Given the description of an element on the screen output the (x, y) to click on. 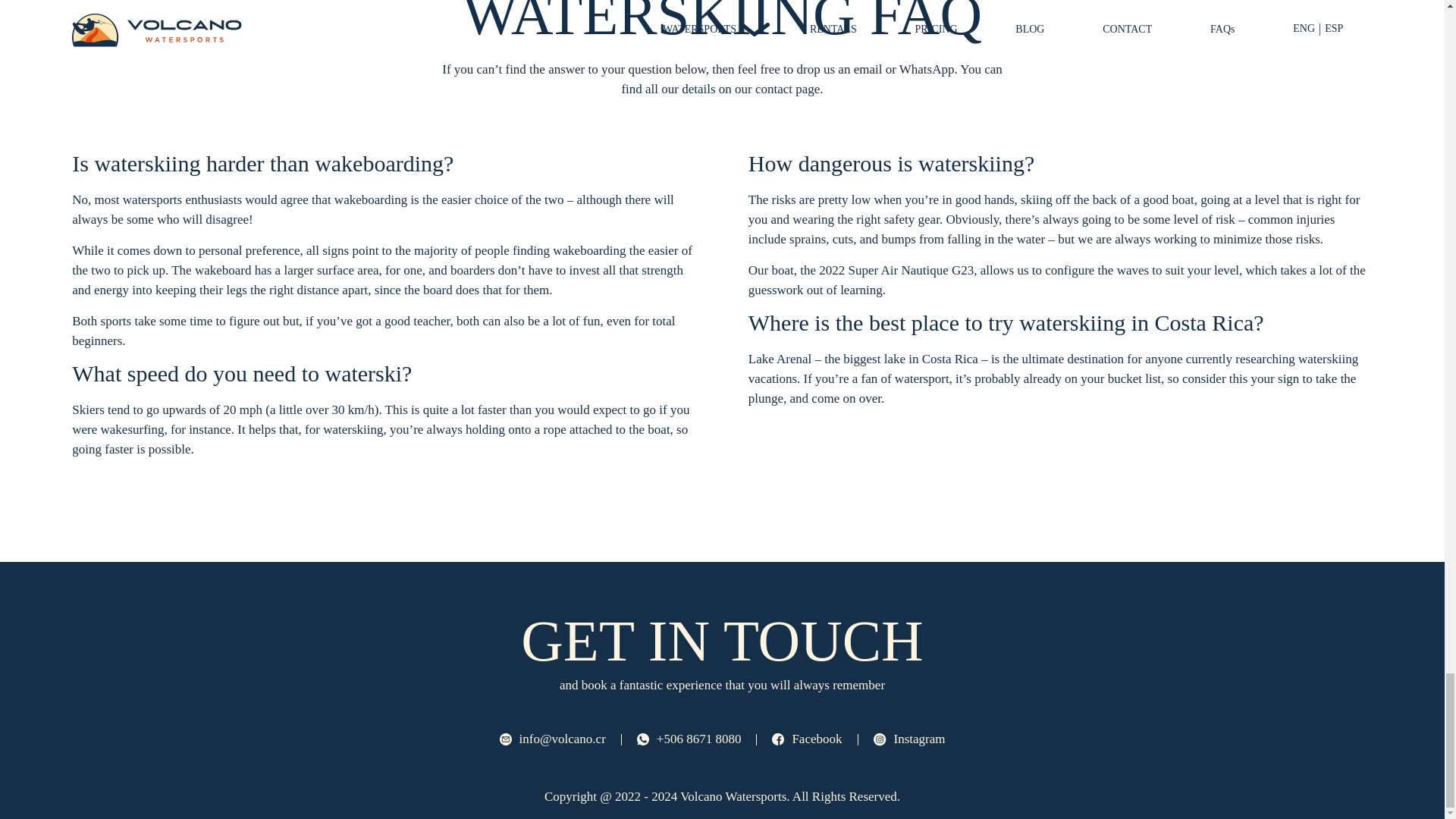
Instagram (908, 739)
Facebook (806, 739)
